Given the description of an element on the screen output the (x, y) to click on. 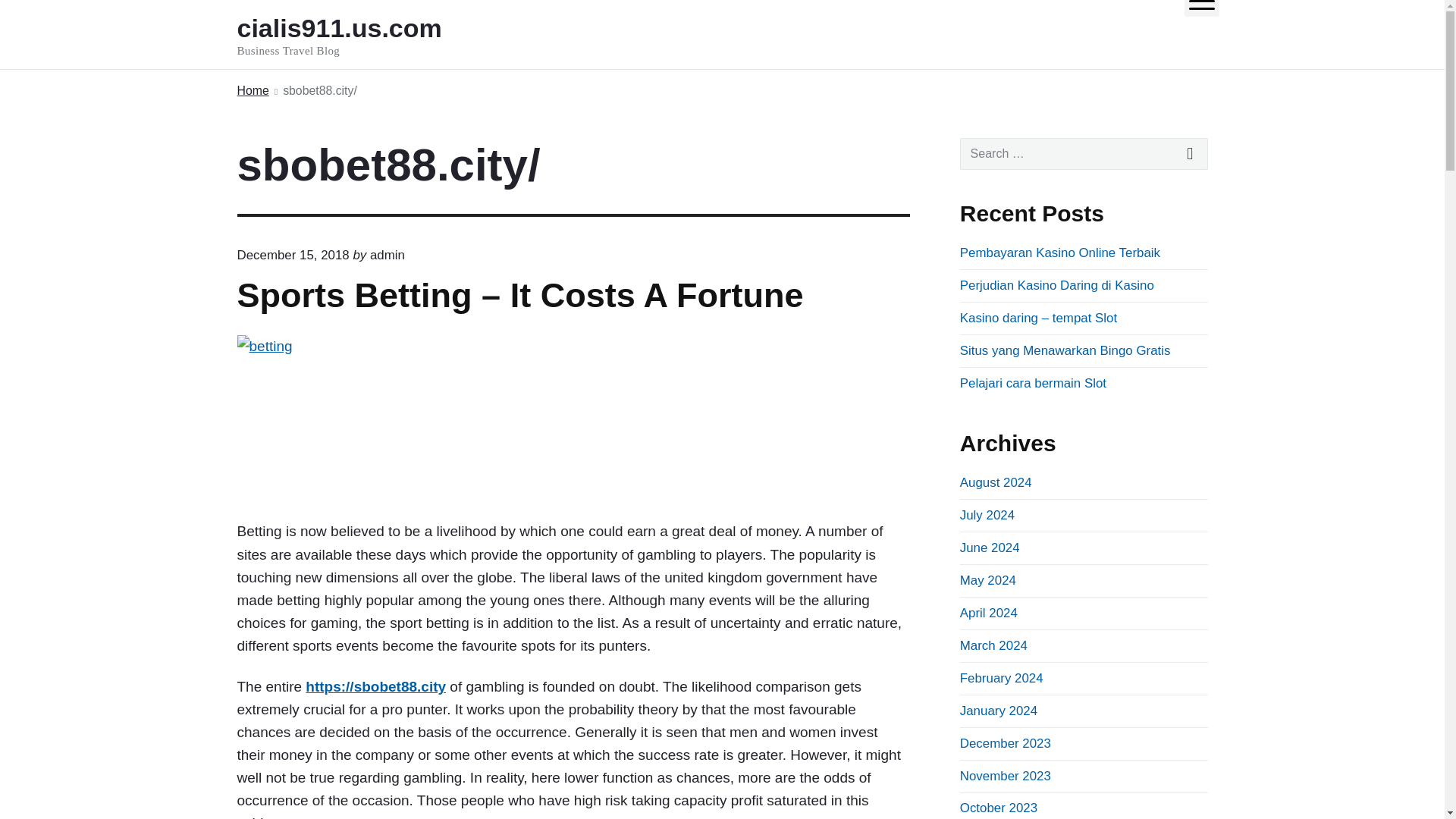
admin (386, 255)
Search for: (1083, 153)
July 2024 (986, 514)
Pembayaran Kasino Online Terbaik (1059, 252)
March 2024 (359, 34)
SEARCH (993, 645)
betting (1190, 153)
February 2024 (571, 416)
Situs yang Menawarkan Bingo Gratis (1001, 677)
